Given the description of an element on the screen output the (x, y) to click on. 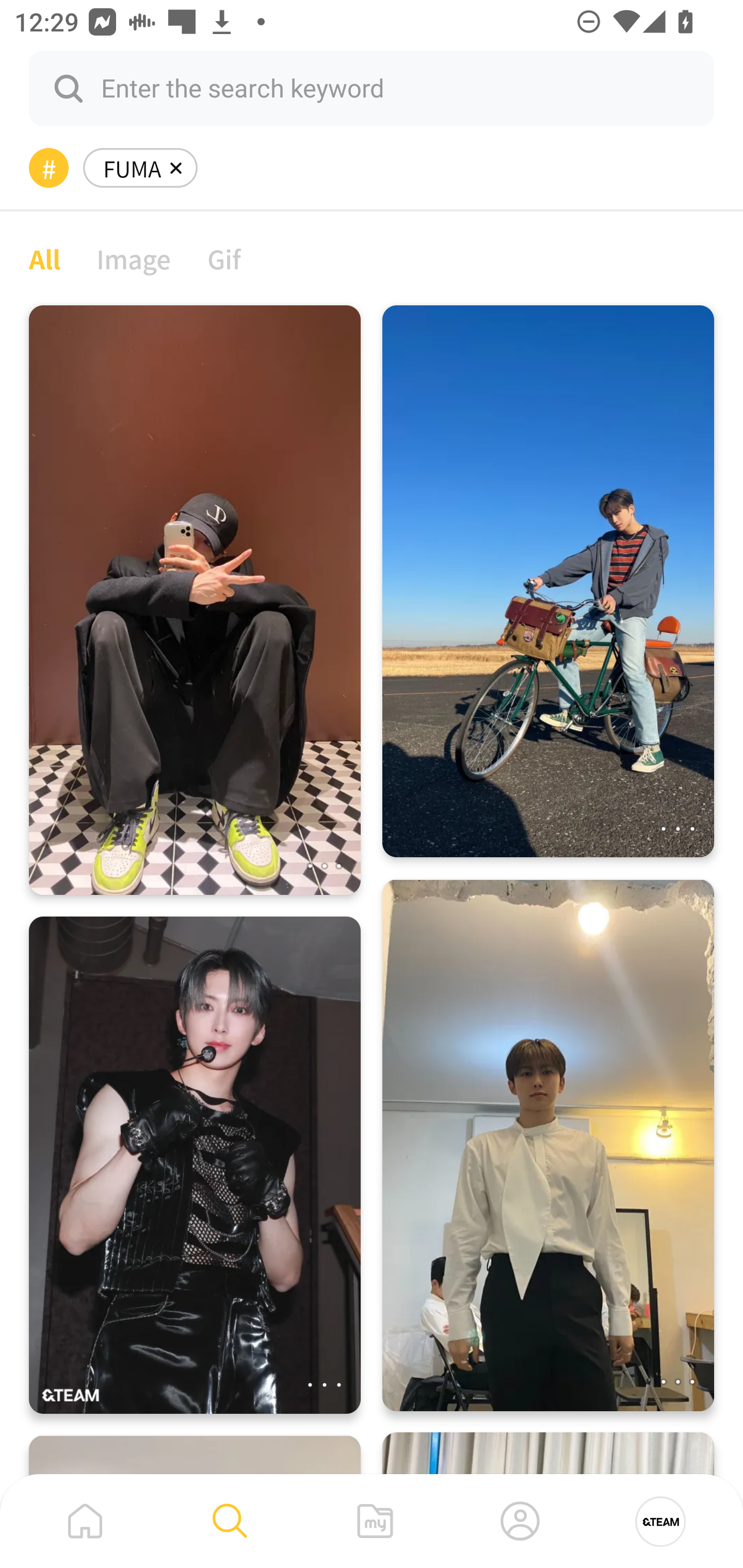
All (44, 257)
Image (133, 257)
Gif (223, 257)
